Given the description of an element on the screen output the (x, y) to click on. 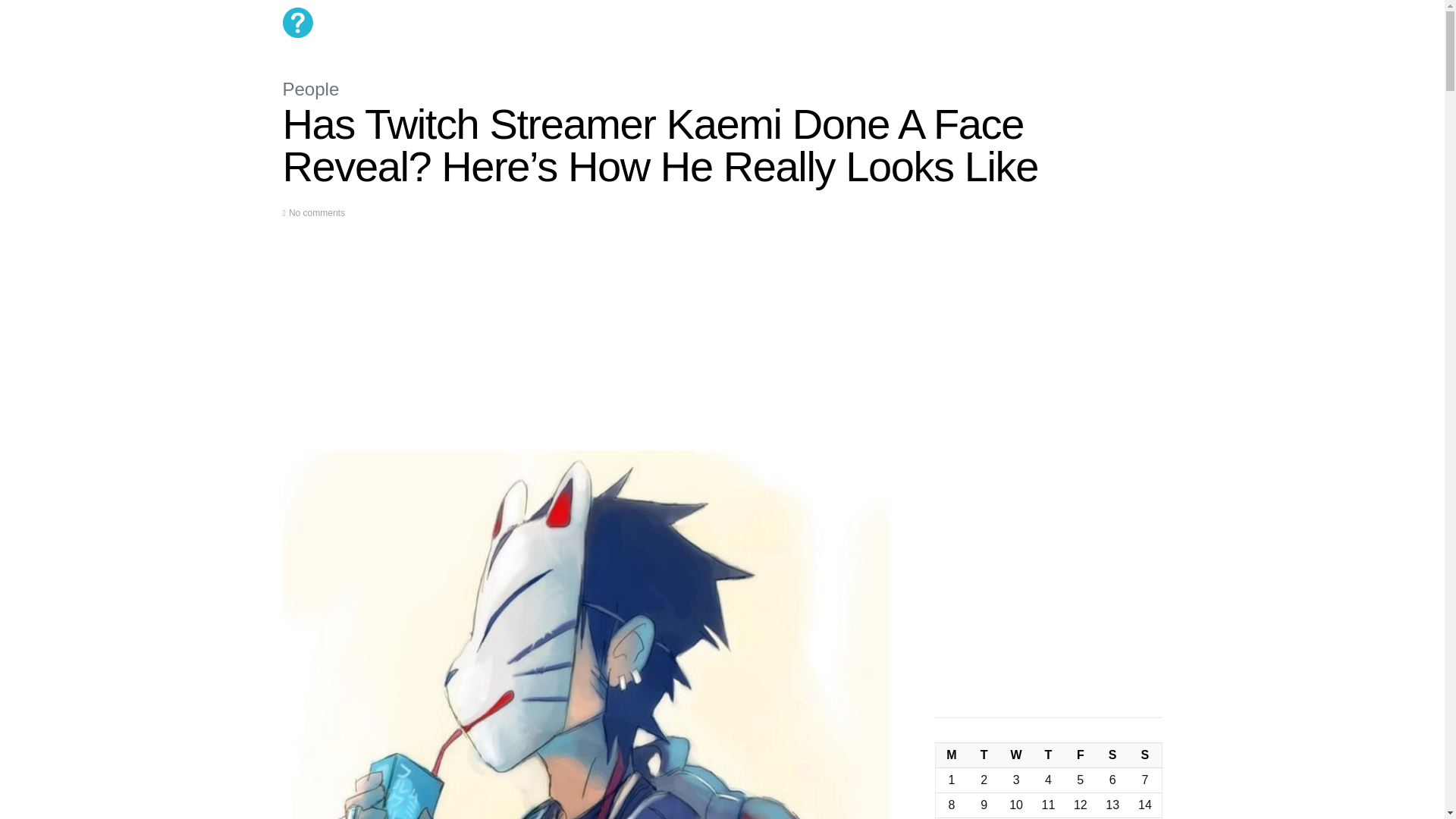
Celeb Corner (505, 22)
Advertisement (585, 344)
Advertise Here (747, 22)
Monday (951, 755)
Wednesday (1016, 755)
Tuesday (984, 755)
No comments (316, 213)
Crime Update (670, 22)
Health (564, 22)
People (310, 88)
Friday (1080, 755)
Thursday (1048, 755)
How to (608, 22)
